Given the description of an element on the screen output the (x, y) to click on. 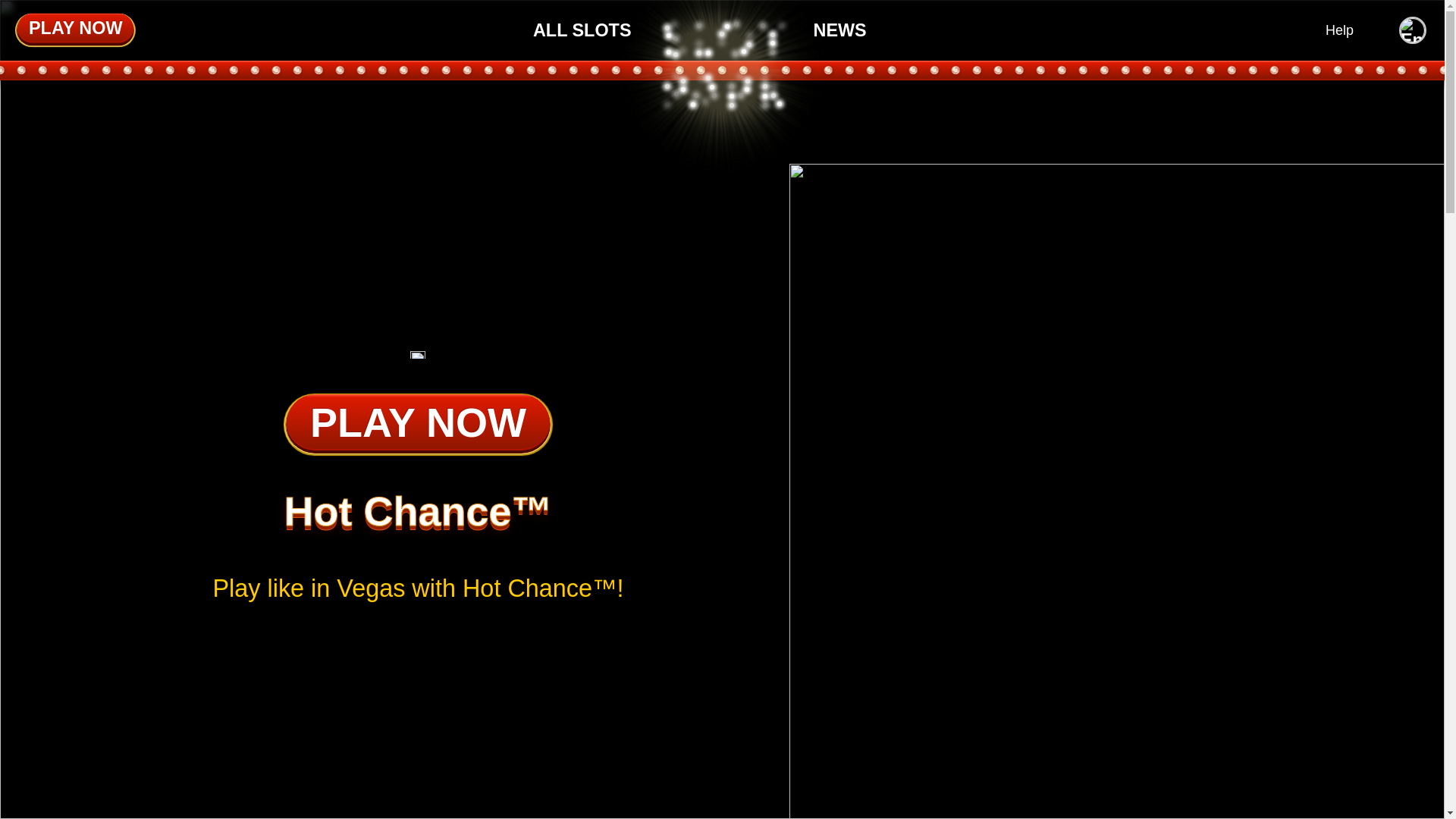
PLAY NOW (417, 424)
ALL SLOTS (581, 29)
Help (1339, 29)
NEWS (839, 29)
PLAY NOW (74, 30)
